Given the description of an element on the screen output the (x, y) to click on. 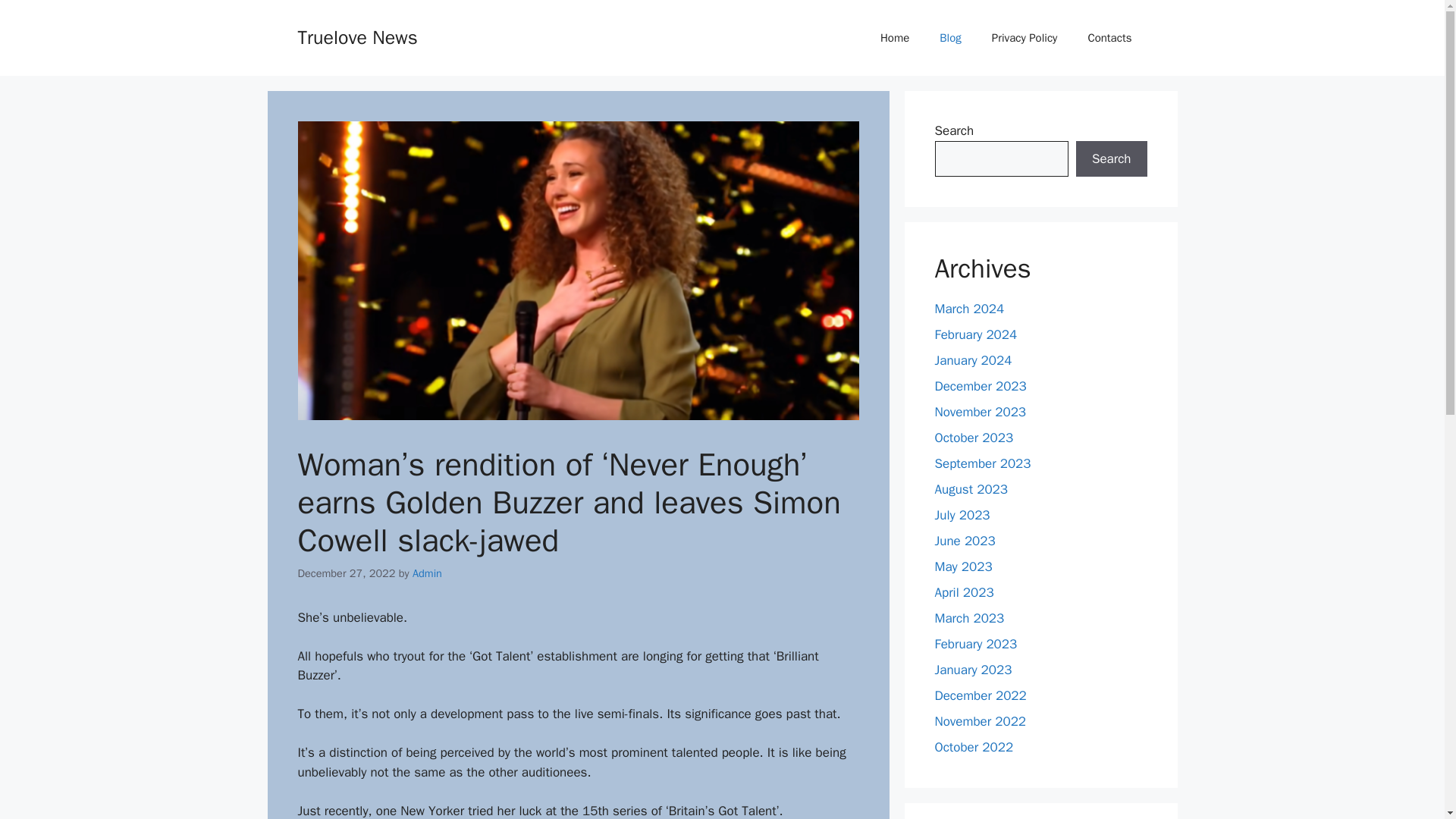
Home (894, 37)
Privacy Policy (1024, 37)
November 2022 (980, 721)
September 2023 (982, 463)
November 2023 (980, 412)
June 2023 (964, 540)
October 2022 (973, 747)
December 2022 (980, 695)
March 2024 (969, 308)
May 2023 (962, 566)
January 2024 (972, 360)
January 2023 (972, 669)
December 2023 (980, 385)
July 2023 (962, 514)
February 2024 (975, 334)
